Given the description of an element on the screen output the (x, y) to click on. 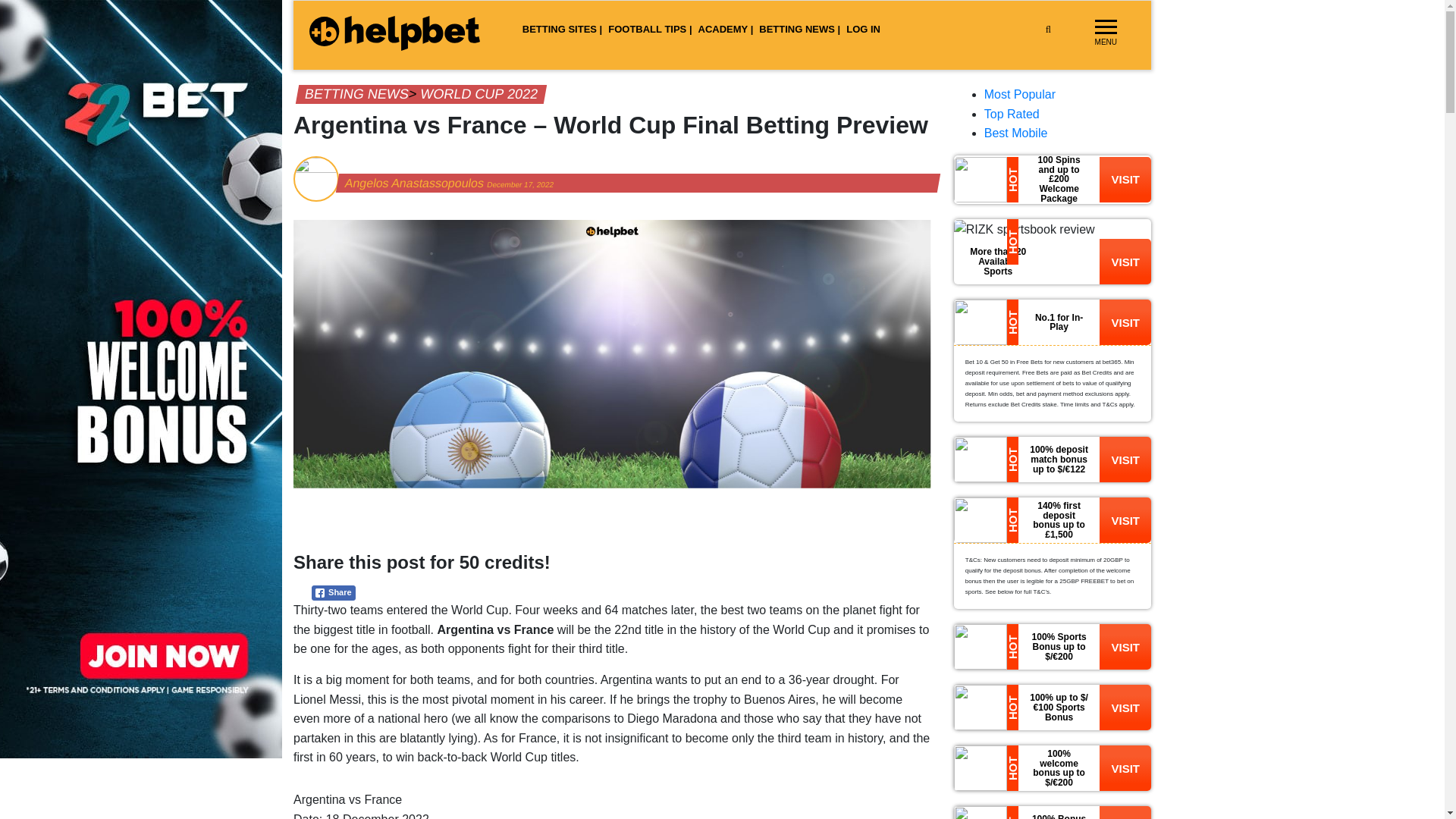
Search (1071, 64)
LOG IN (863, 30)
BETTING NEWS (354, 93)
WORLD CUP 2022 (478, 93)
